Given the description of an element on the screen output the (x, y) to click on. 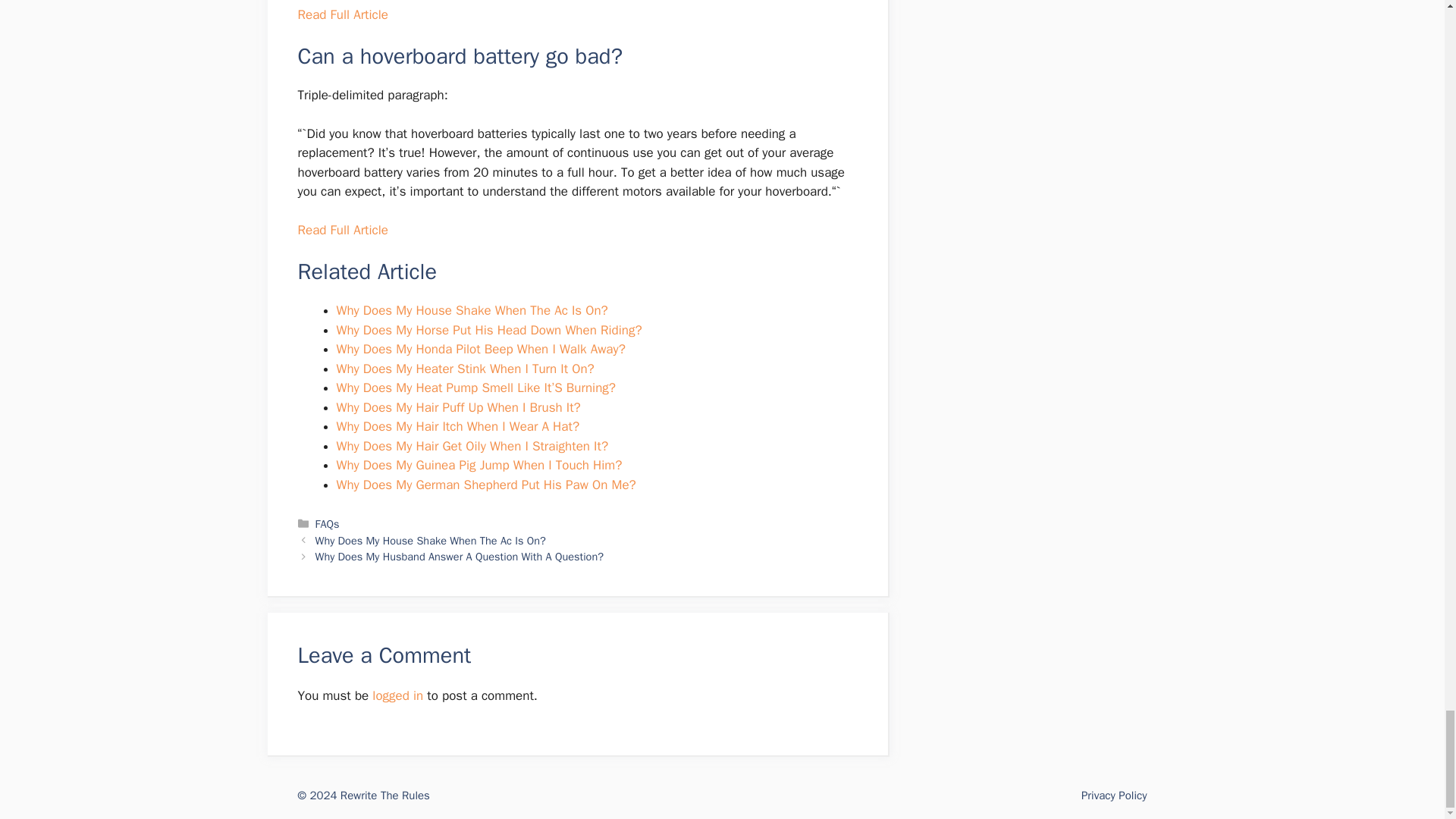
Why Does My Horse Put His Head Down When Riding? (489, 330)
Why Does My Hair Get Oily When I Straighten It? (472, 446)
Why Does My Guinea Pig Jump When I Touch Him? (479, 465)
Why Does My House Shake When The Ac Is On? (430, 540)
Why Does My Hair Puff Up When I Brush It? (458, 407)
Why Does My Hair Itch When I Wear A Hat? (457, 426)
Why Does My Honda Pilot Beep When I Walk Away? (481, 349)
FAQs (327, 523)
Read Full Article (342, 14)
Why Does My German Shepherd Put His Paw On Me? (486, 484)
